Given the description of an element on the screen output the (x, y) to click on. 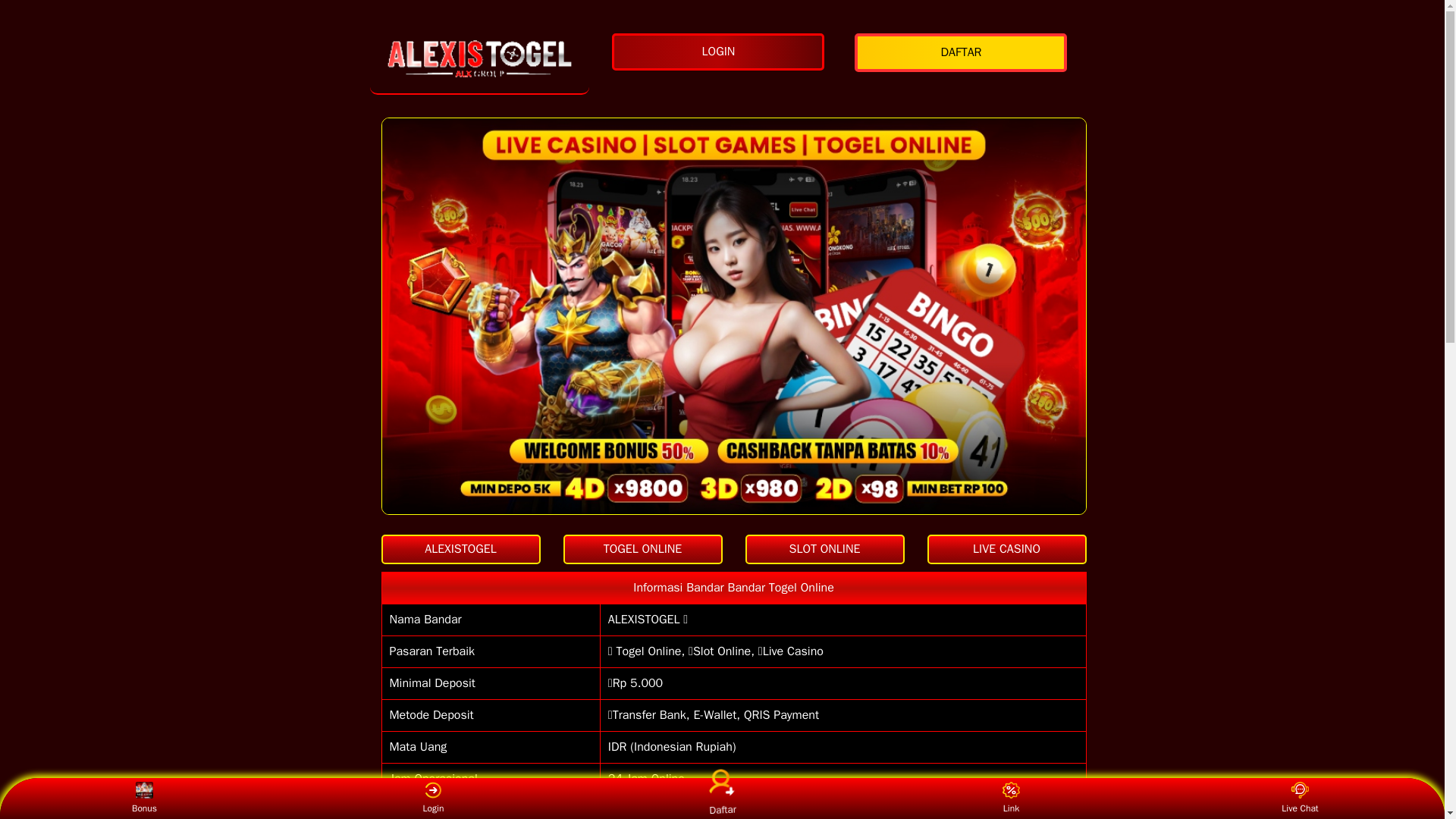
Link (1010, 797)
SLOT ONLINE (824, 549)
DAFTAR (964, 52)
Live Chat (1299, 797)
LIVE CASINO (1006, 549)
Login (432, 797)
Bandar totomacau terpercaya (479, 58)
Bonus (144, 797)
ALEXISTOGEL (460, 549)
TOGEL ONLINE (642, 549)
